Given the description of an element on the screen output the (x, y) to click on. 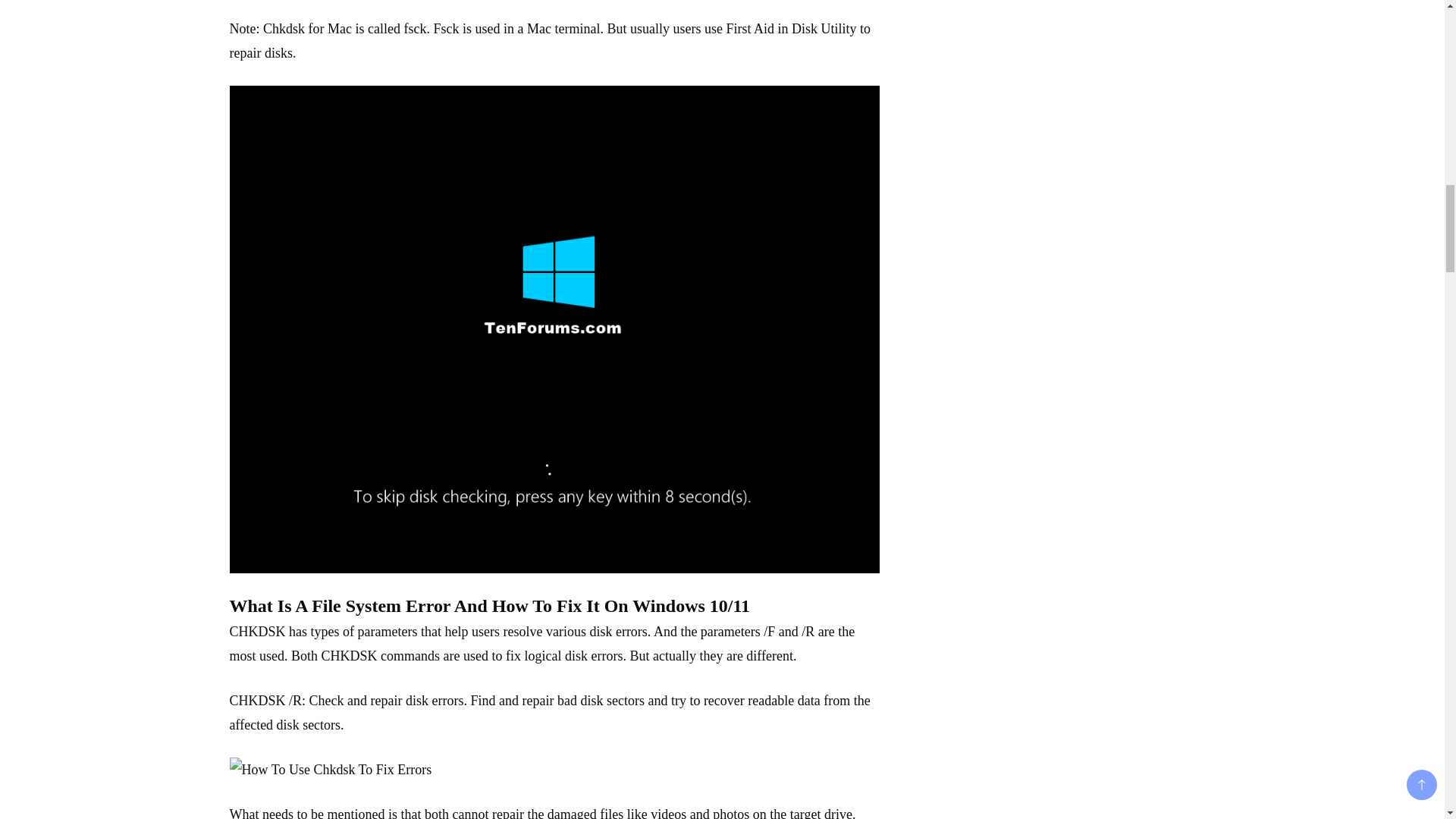
How To Use Chkdsk To Fix Errors (329, 769)
